Given the description of an element on the screen output the (x, y) to click on. 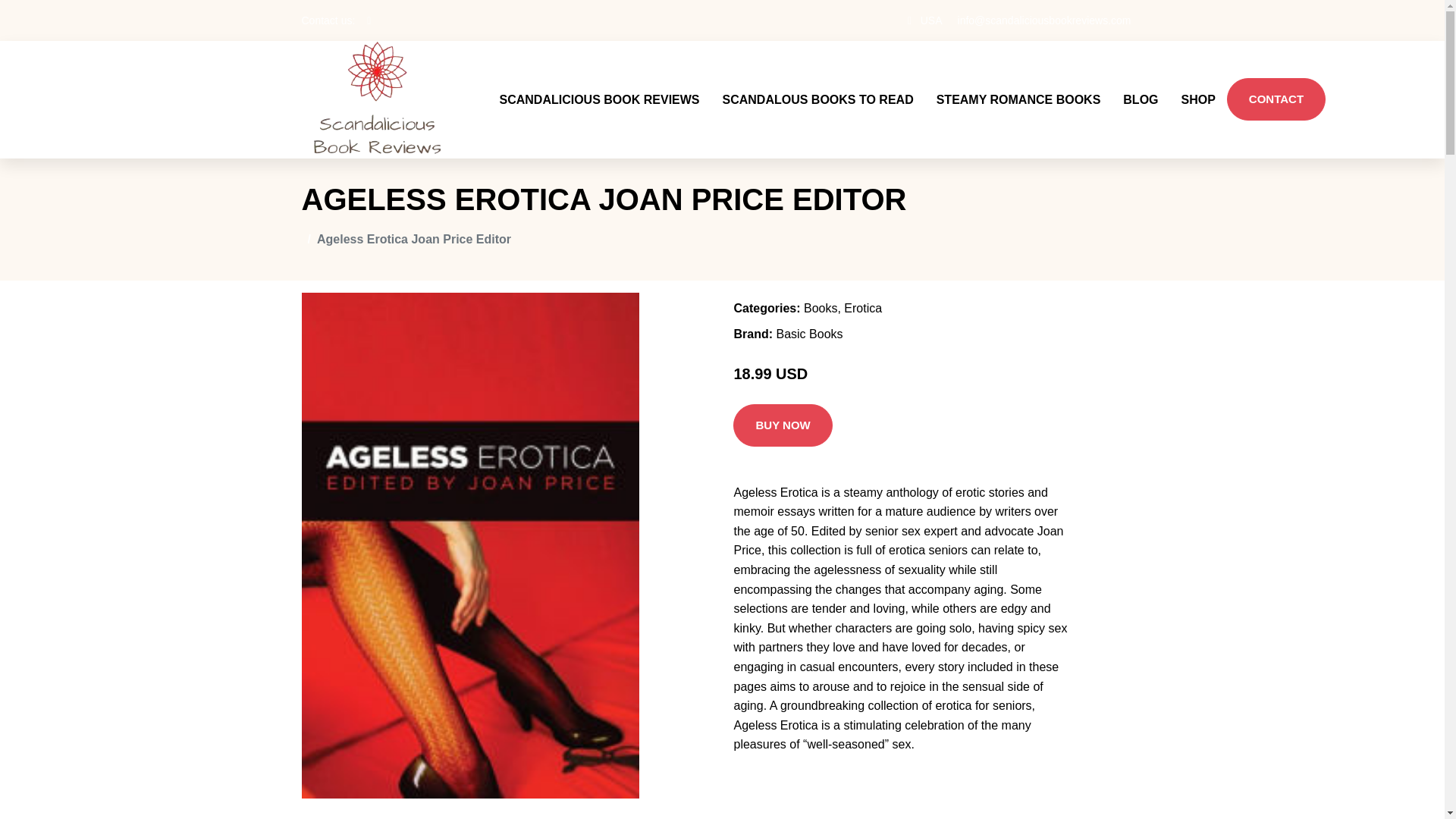
BUY NOW (782, 387)
USA (931, 20)
CONTACT (1275, 79)
SCANDALOUS BOOKS TO READ (817, 80)
Erotica (863, 270)
STEAMY ROMANCE BOOKS (1018, 80)
Books (820, 270)
SCANDALICIOUS BOOK REVIEWS (599, 80)
